Given the description of an element on the screen output the (x, y) to click on. 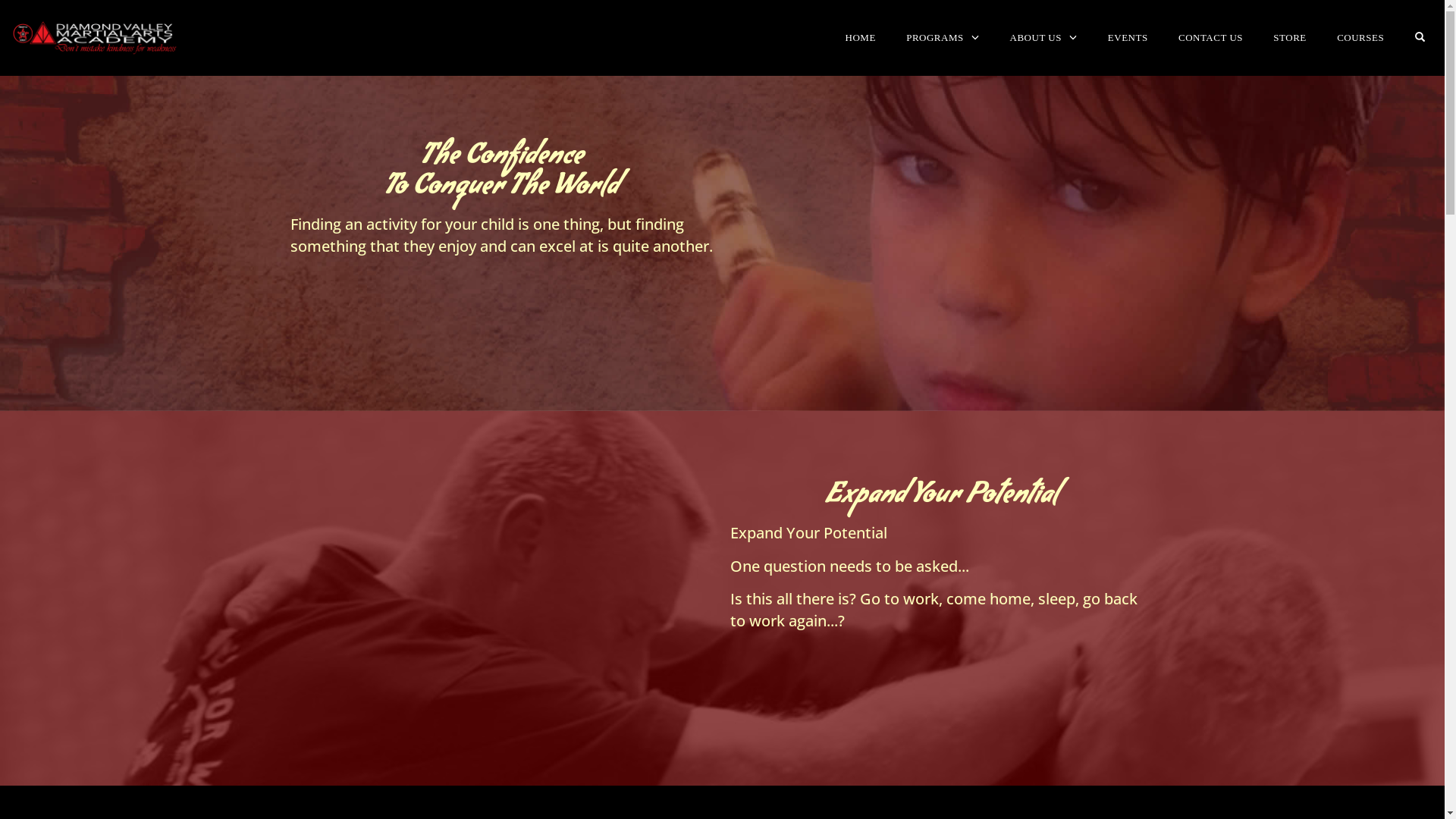
ABOUT US Element type: text (1043, 37)
CONTACT US Element type: text (1210, 37)
COURSES Element type: text (1360, 37)
PROGRAMS Element type: text (942, 37)
OPEN SEARCH FORM Element type: text (1419, 37)
EVENTS Element type: text (1127, 37)
STORE Element type: text (1289, 37)
Diamond Valley Martial Arts Academy Element type: hover (94, 37)
HOME Element type: text (860, 37)
